Given the description of an element on the screen output the (x, y) to click on. 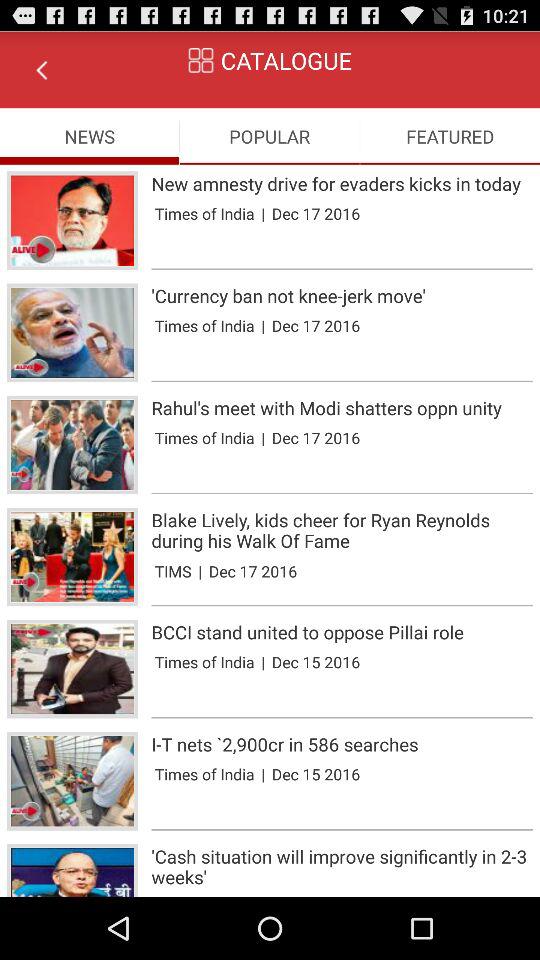
turn off the item below the tims icon (342, 605)
